Given the description of an element on the screen output the (x, y) to click on. 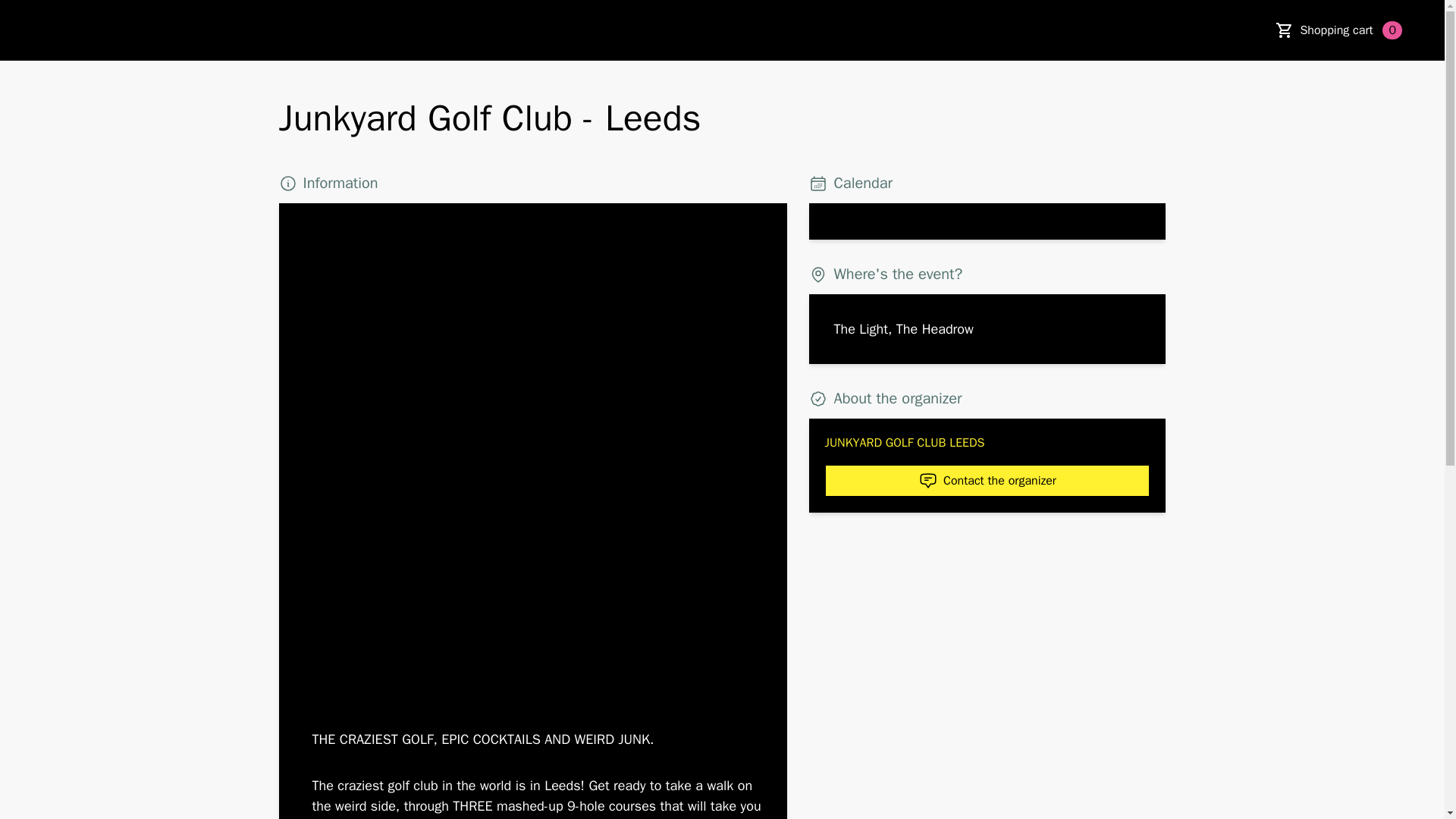
Contact the organizer (987, 480)
JUNKYARD GOLF CLUB LEEDS (987, 443)
Shopping cart 0 (1351, 30)
